Given the description of an element on the screen output the (x, y) to click on. 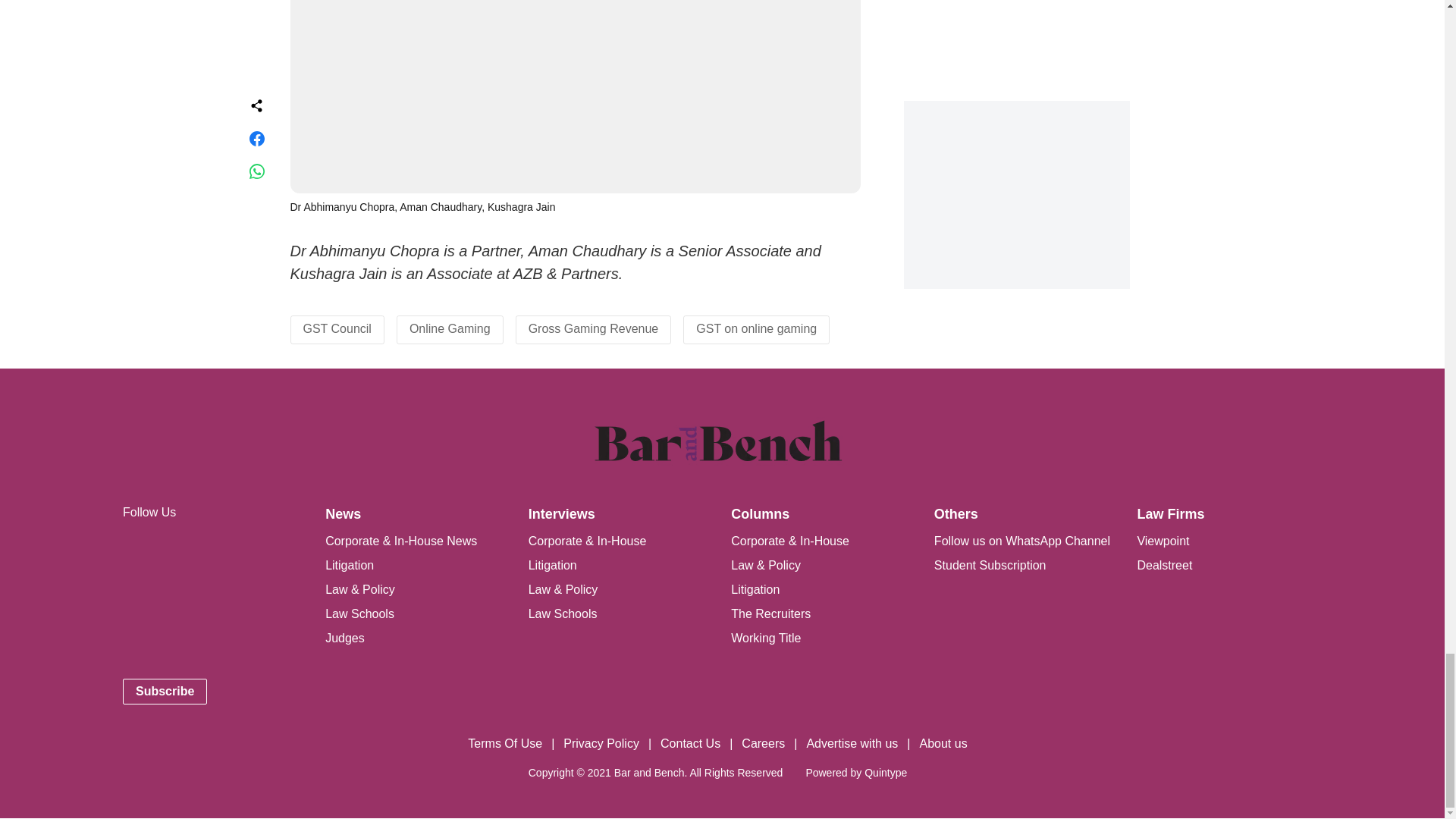
Online Gaming (449, 328)
Gross Gaming Revenue (593, 328)
GST on online gaming (755, 328)
GST Council (336, 328)
